Given the description of an element on the screen output the (x, y) to click on. 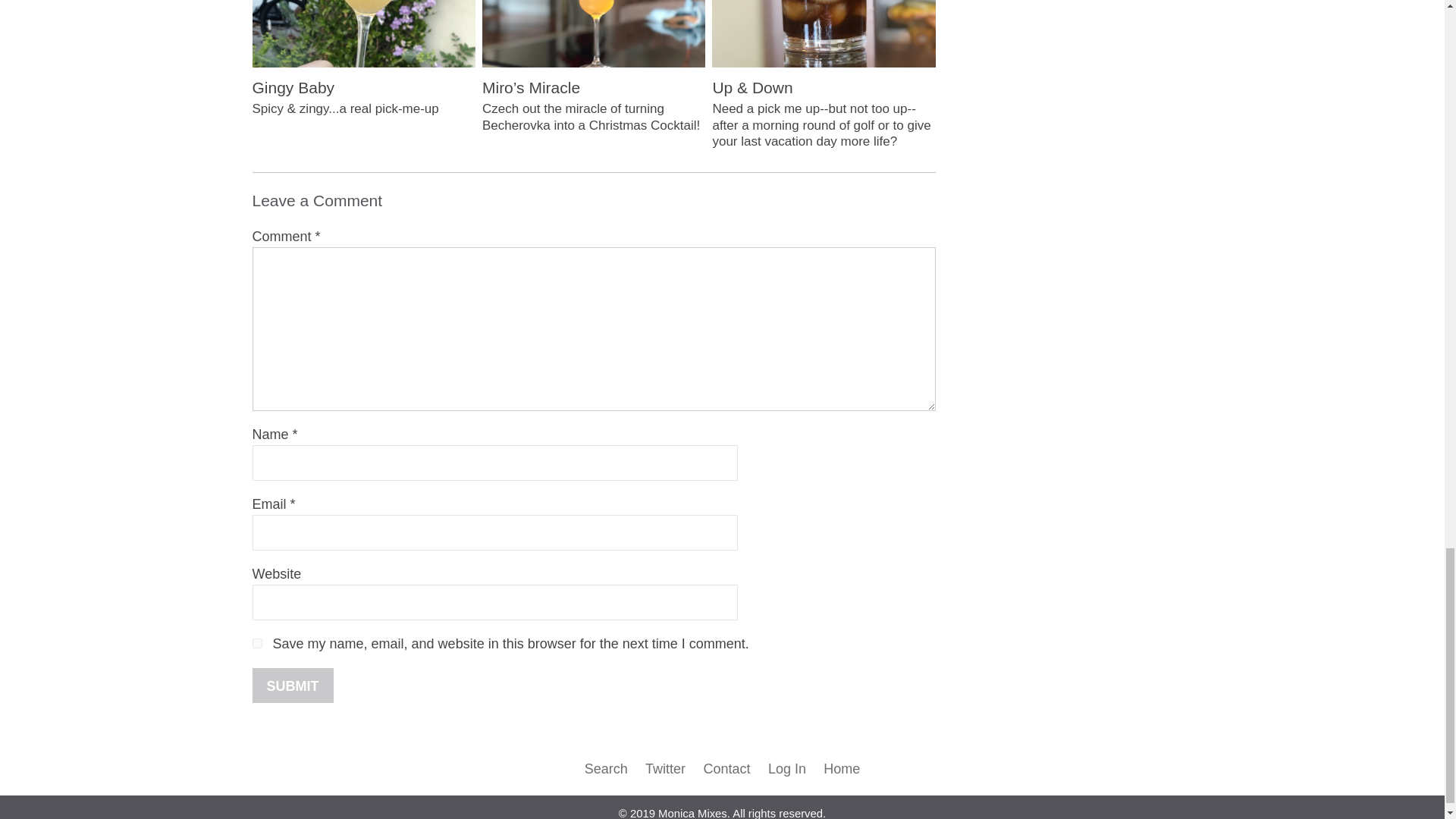
Submit (292, 685)
Search (606, 768)
Gingy Baby (362, 48)
Log In (787, 768)
Contact (726, 768)
Home (842, 768)
Twitter (665, 768)
yes (256, 643)
Submit (292, 685)
